Given the description of an element on the screen output the (x, y) to click on. 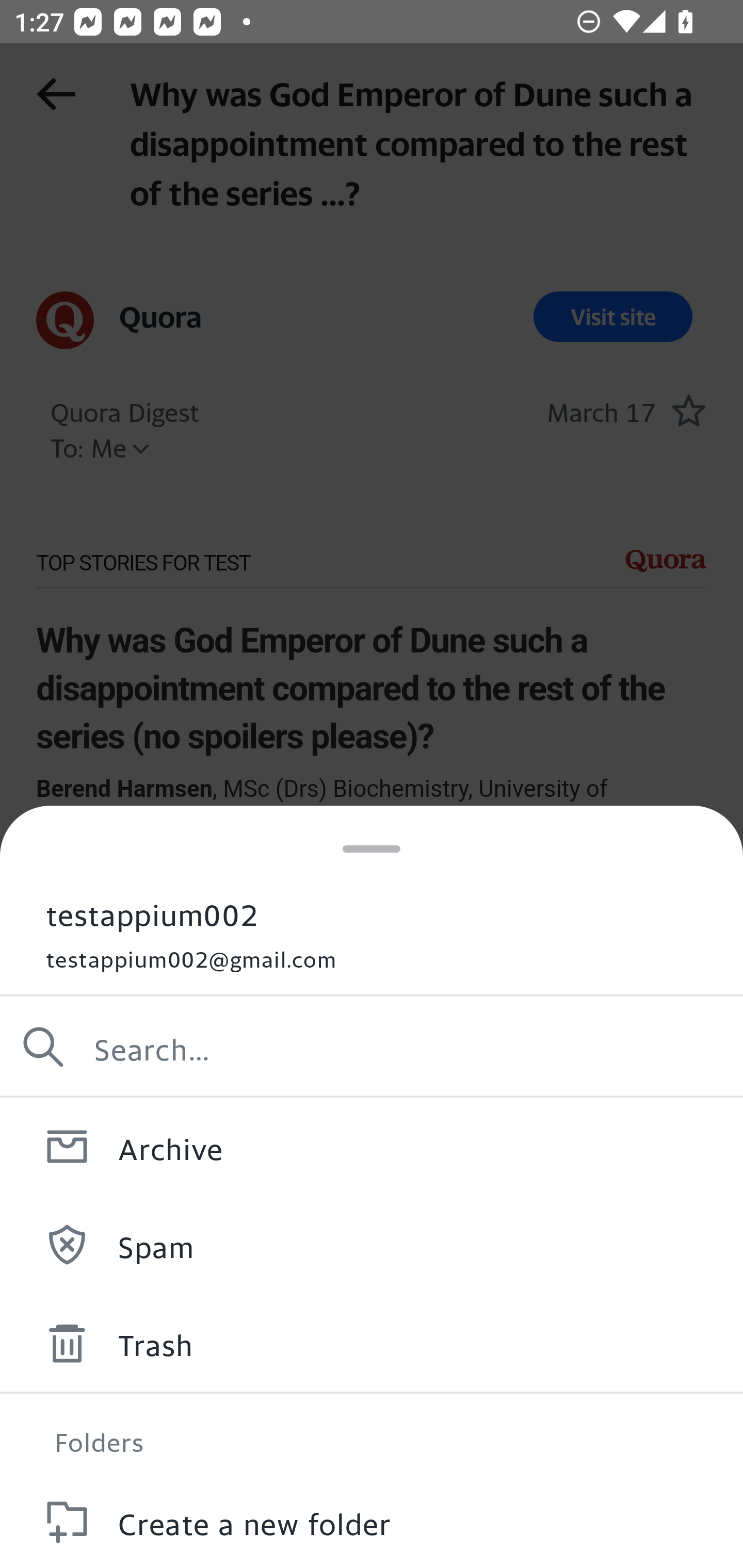
Search… (371, 1047)
Archive (371, 1145)
Spam (371, 1243)
Trash (371, 1342)
Create a new folder (371, 1520)
